Given the description of an element on the screen output the (x, y) to click on. 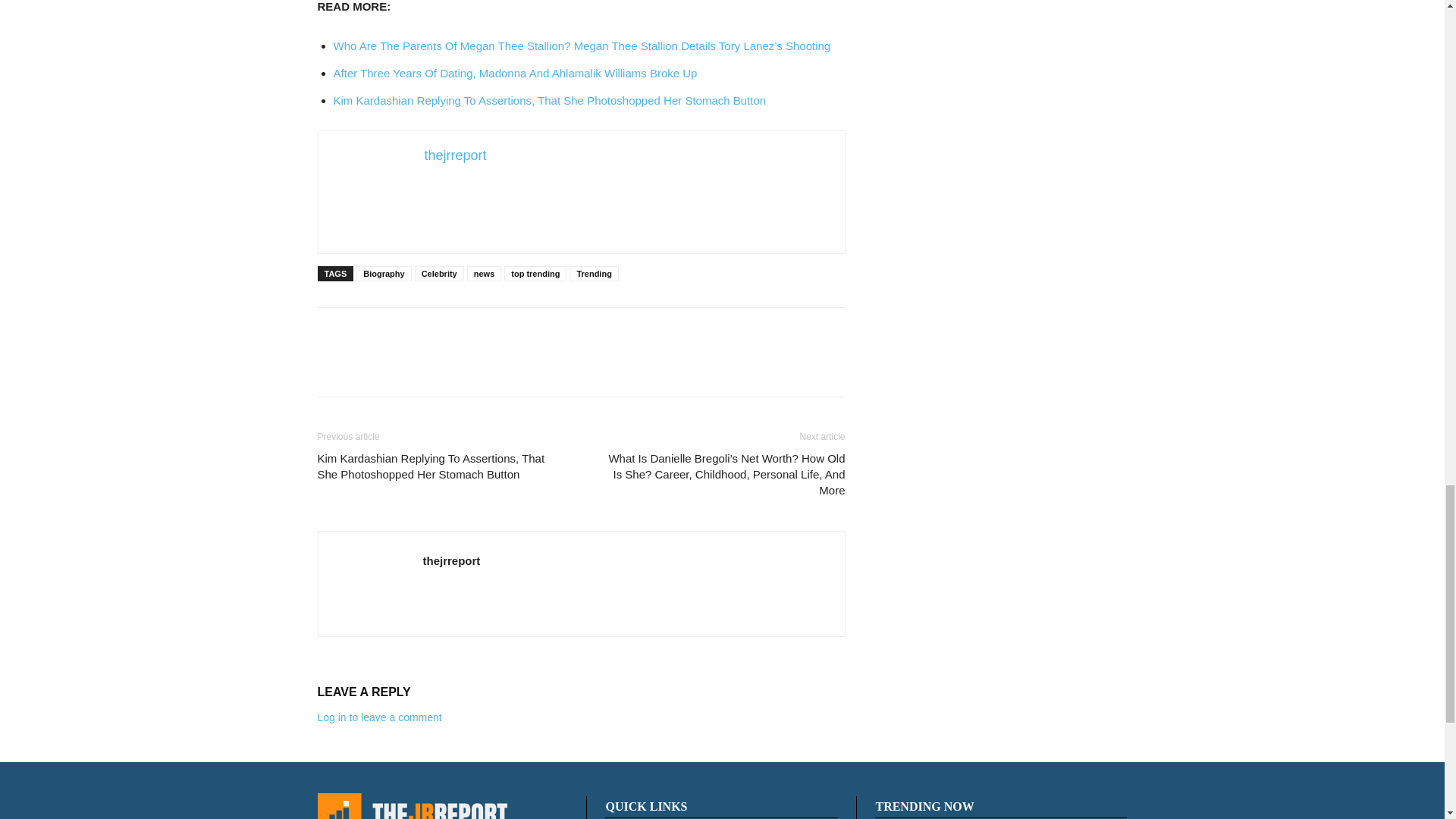
bottomFacebookLike (430, 331)
